Given the description of an element on the screen output the (x, y) to click on. 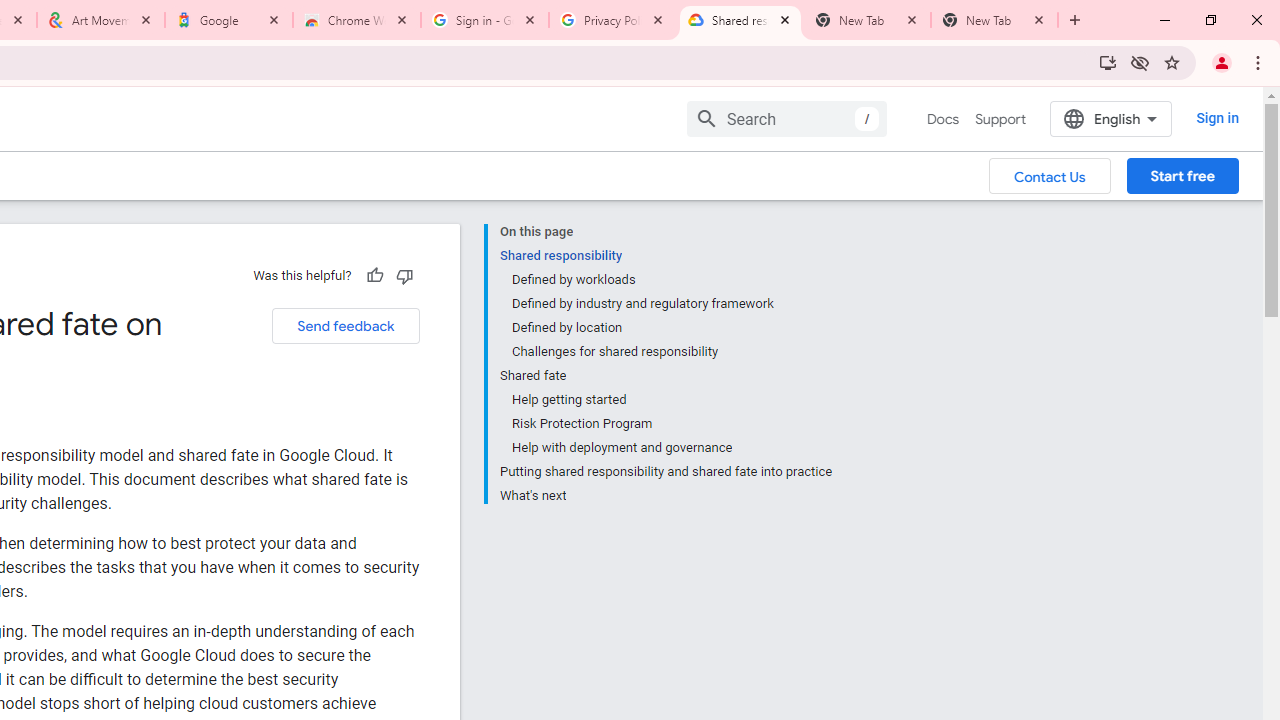
Send feedback (345, 326)
Putting shared responsibility and shared fate into practice (665, 471)
New Tab (994, 20)
Install Google Cloud (1107, 62)
Chrome Web Store - Color themes by Chrome (357, 20)
